Given the description of an element on the screen output the (x, y) to click on. 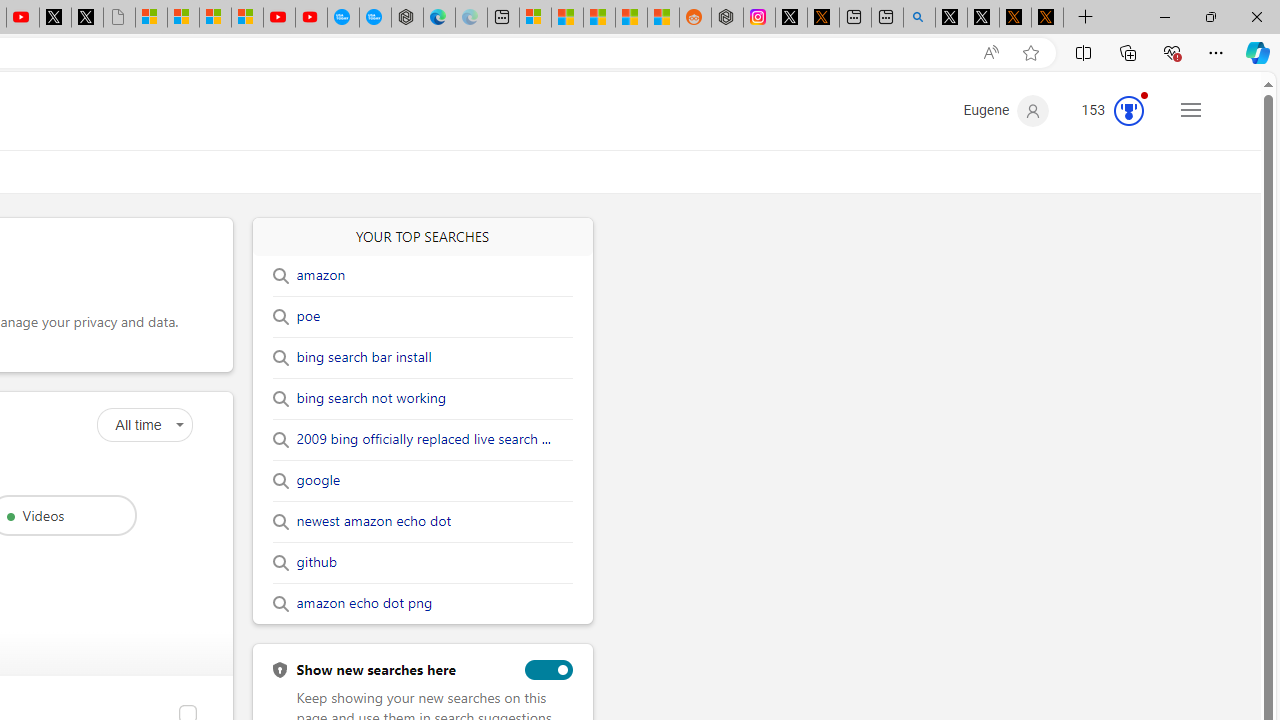
The most popular Google 'how to' searches (374, 17)
YouTube Kids - An App Created for Kids to Explore Content (310, 17)
Profile / X (950, 17)
Copilot (Ctrl+Shift+.) (1258, 52)
Microsoft account | Microsoft Account Privacy Settings (535, 17)
Eugene (1005, 110)
Settings and more (Alt+F) (1215, 52)
Split screen (1083, 52)
Close (1256, 16)
amazon (320, 275)
Class: medal-circled (1129, 110)
amazon echo dot png (363, 604)
Log in to X / X (791, 17)
X (87, 17)
